Given the description of an element on the screen output the (x, y) to click on. 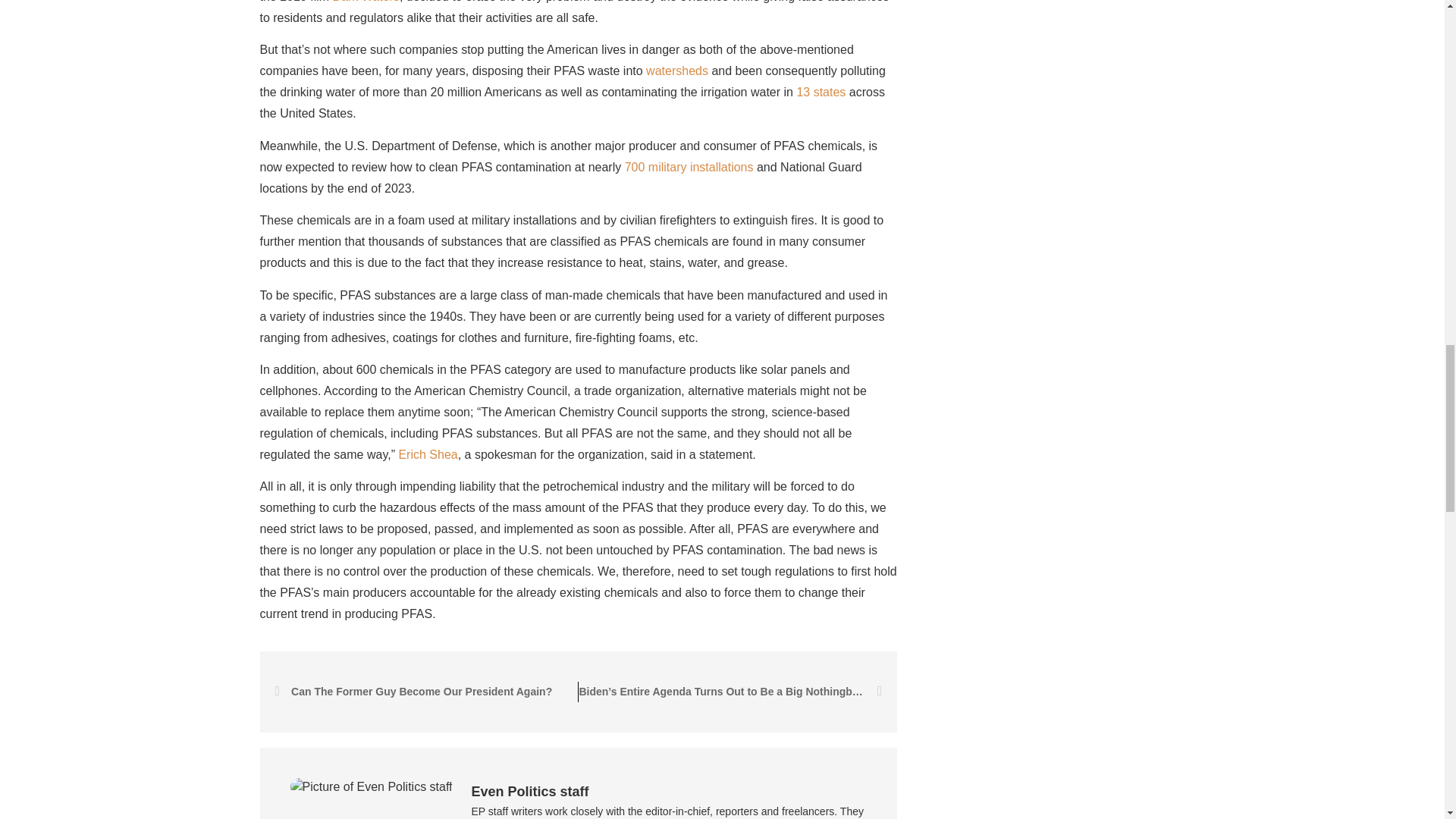
700 military installations (689, 166)
Erich Shea (427, 454)
Dark Waters (365, 1)
13 states (820, 91)
Can The Former Guy Become Our President Again? (426, 691)
watersheds (676, 70)
